Given the description of an element on the screen output the (x, y) to click on. 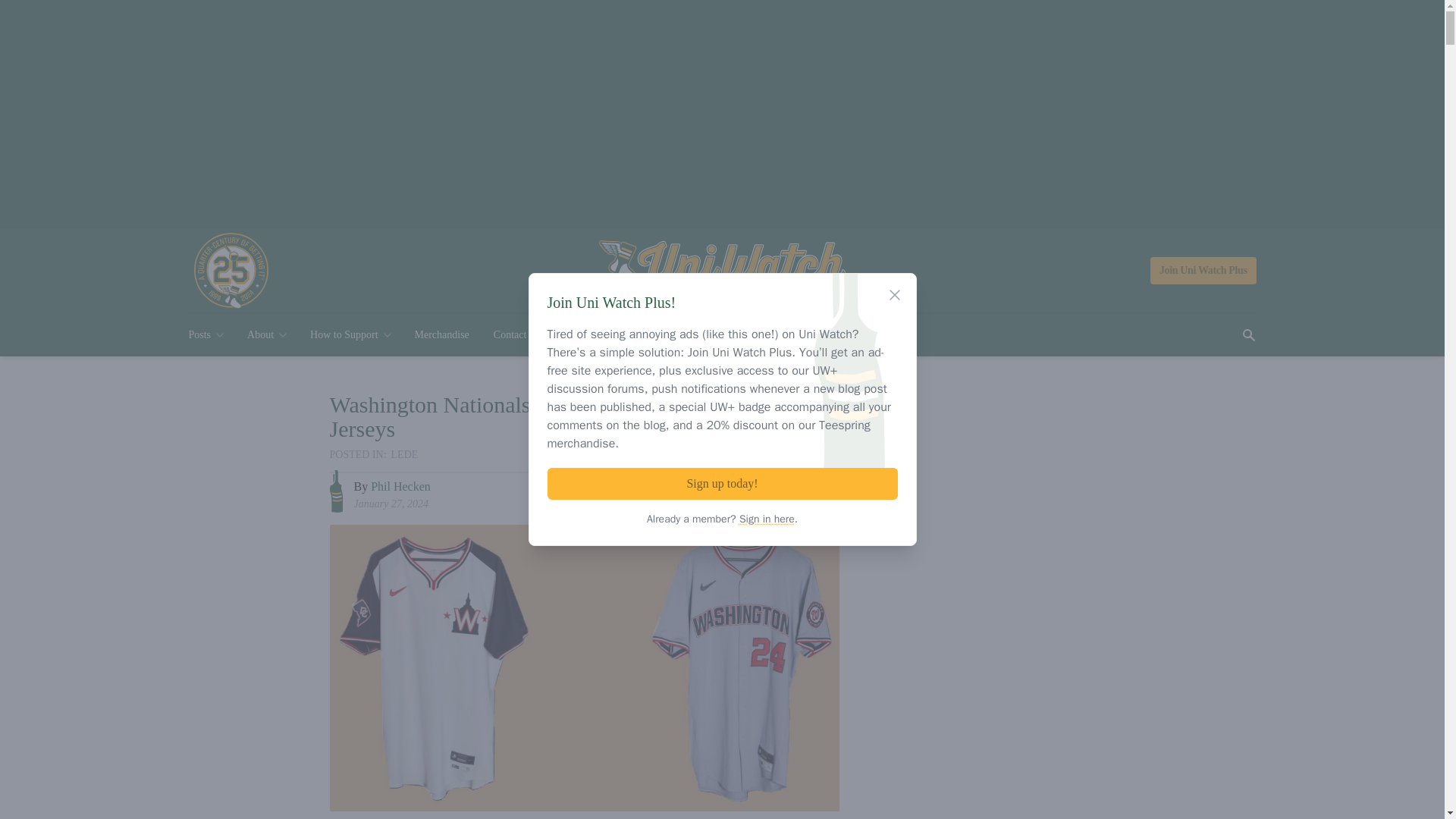
Join Uni Watch Plus (1203, 270)
Share on Twitter (796, 492)
Close (894, 294)
Share on Facebook (768, 492)
Uni Watch (721, 270)
Sign up today! (722, 483)
Sign in here (766, 518)
Uni Watch (721, 270)
